Given the description of an element on the screen output the (x, y) to click on. 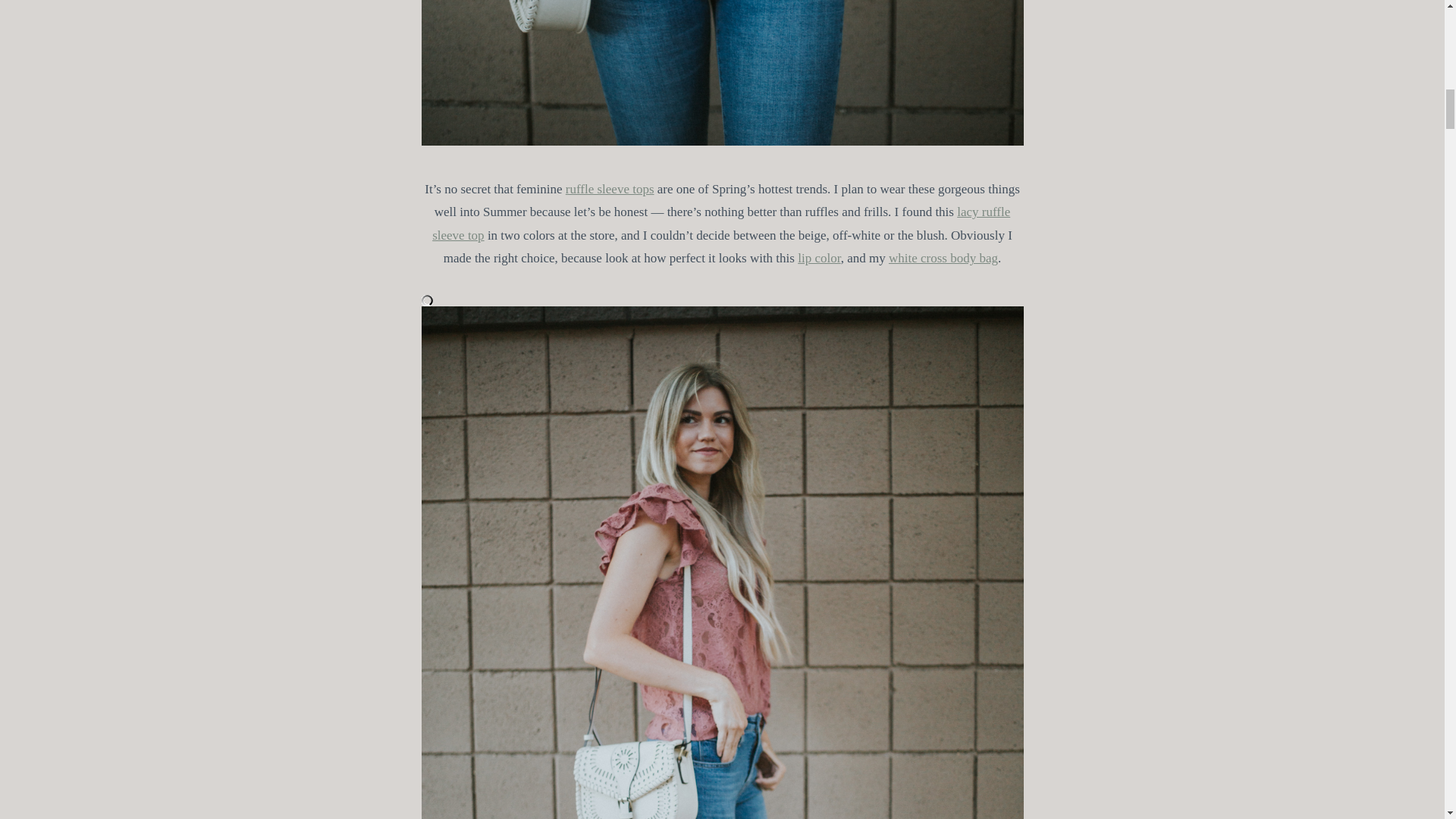
ruffle sleeve tops (609, 188)
lacy ruffle sleeve top (721, 223)
white cross body bag (942, 257)
lip color (818, 257)
